Given the description of an element on the screen output the (x, y) to click on. 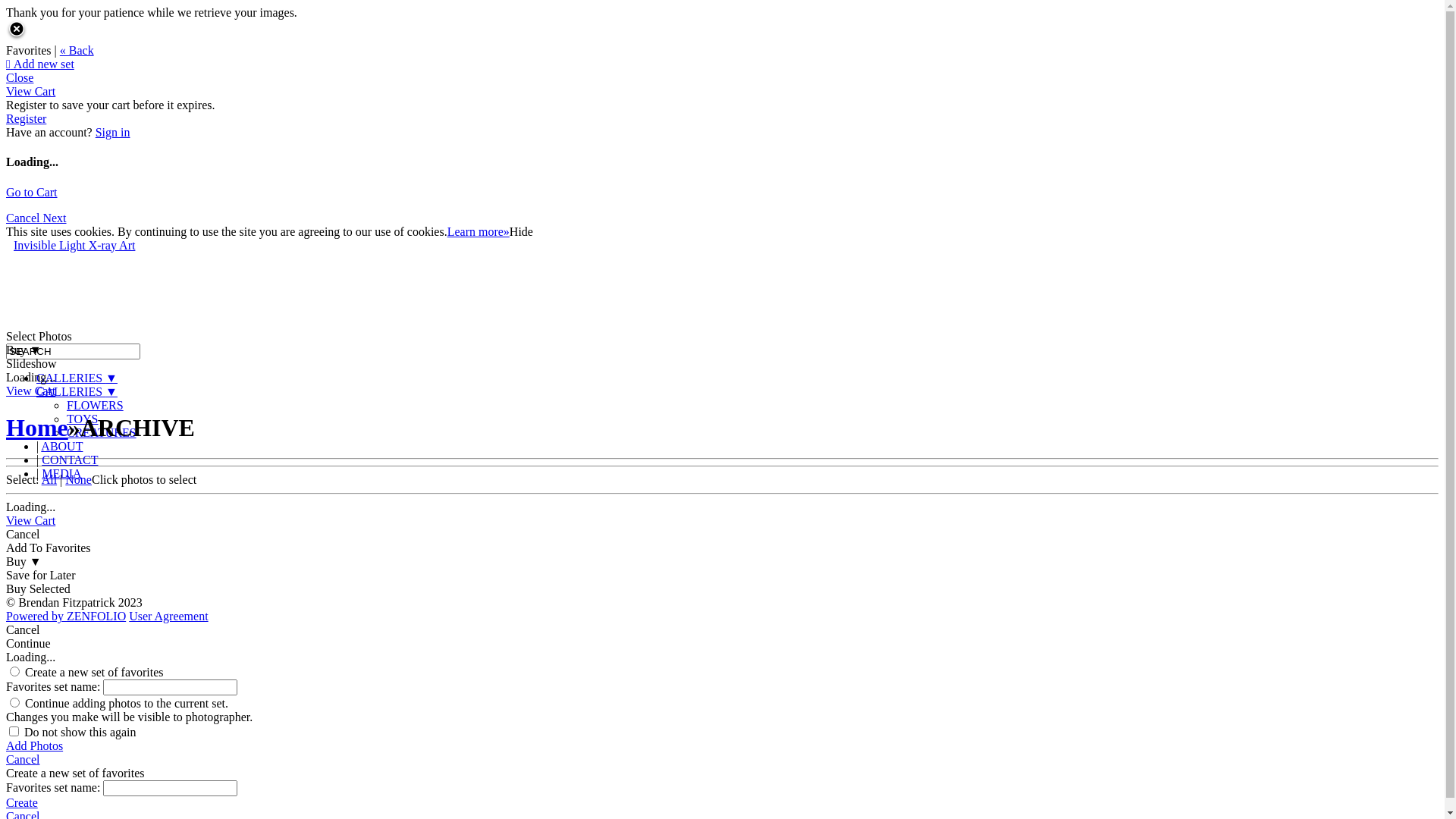
Add Photos Element type: text (722, 746)
View Cart Element type: text (30, 390)
Cancel Element type: text (722, 759)
CONTACT Element type: text (69, 459)
None Element type: text (78, 479)
CREATURES Element type: text (101, 432)
Home Element type: text (37, 427)
TOYS Element type: text (82, 418)
Cancel Element type: text (24, 217)
Create Element type: text (722, 802)
Sign in Element type: text (112, 131)
Next Element type: text (53, 217)
Hide Element type: text (521, 231)
View Cart Element type: text (30, 520)
Register Element type: text (26, 118)
Powered by ZENFOLIO Element type: text (65, 615)
All Element type: text (48, 479)
MEDIA Element type: text (61, 473)
Go to Cart Element type: text (31, 191)
View Cart Element type: text (30, 90)
Invisible Light X-ray Art Element type: text (74, 244)
User Agreement Element type: text (167, 615)
Close Element type: text (19, 77)
ABOUT Element type: text (61, 445)
FLOWERS Element type: text (94, 404)
